Given the description of an element on the screen output the (x, y) to click on. 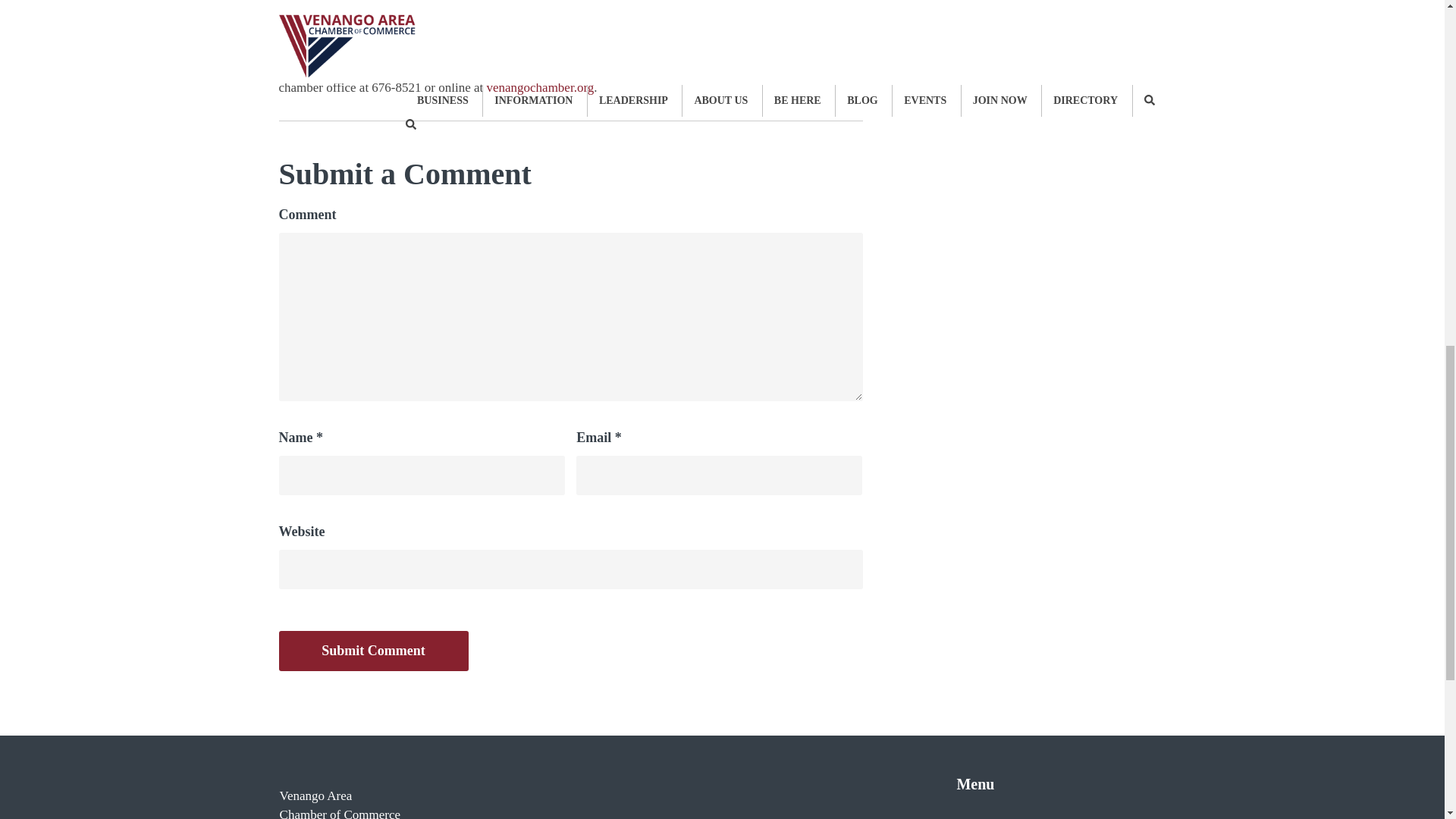
Submit Comment (373, 650)
